Given the description of an element on the screen output the (x, y) to click on. 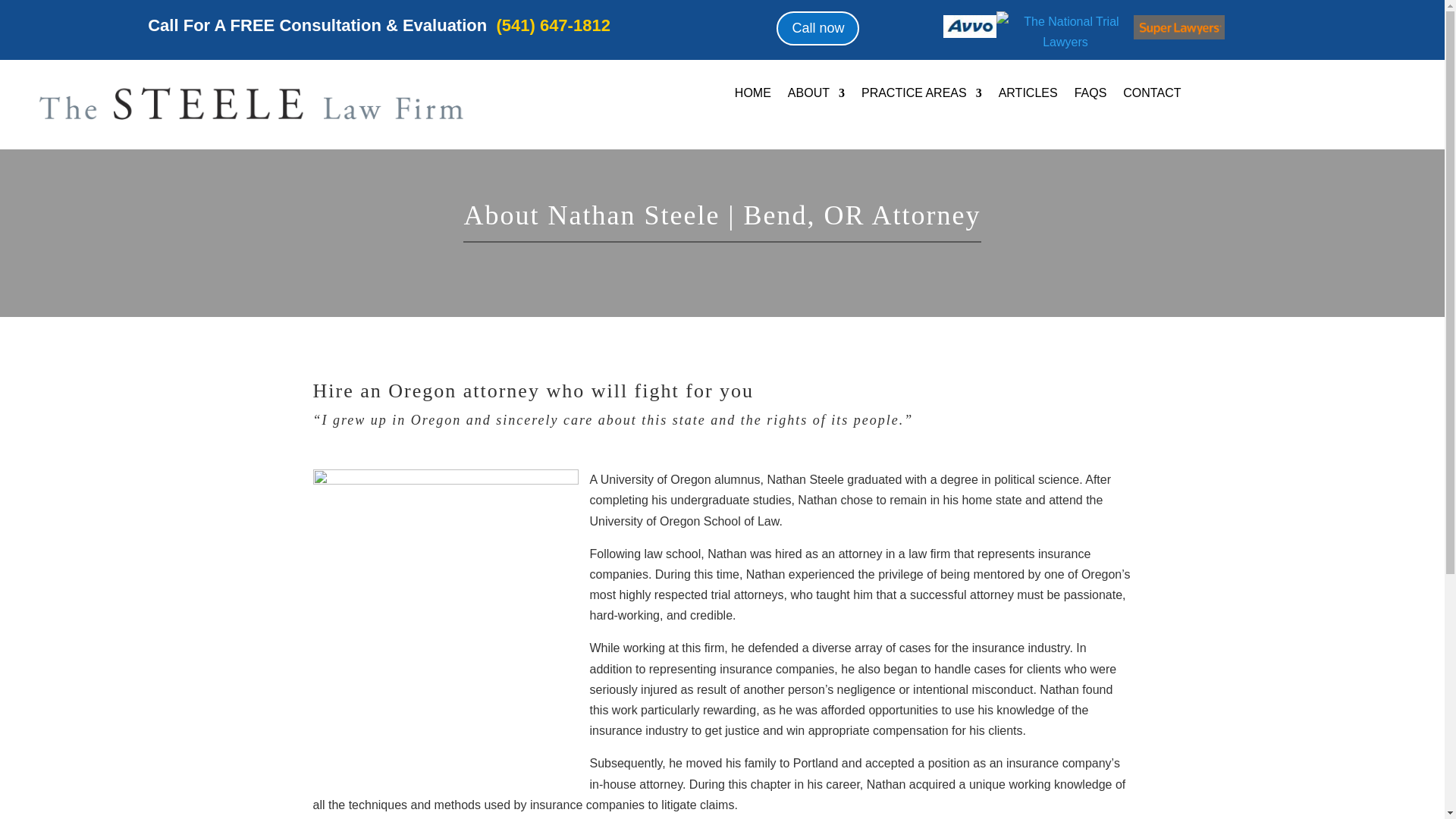
PRACTICE AREAS (921, 95)
Call now (817, 28)
FAQS (1090, 95)
CONTACT (1151, 95)
HOME (753, 95)
ABOUT (815, 95)
steele-law-in-bend-oregon (250, 100)
ARTICLES (1028, 95)
